Given the description of an element on the screen output the (x, y) to click on. 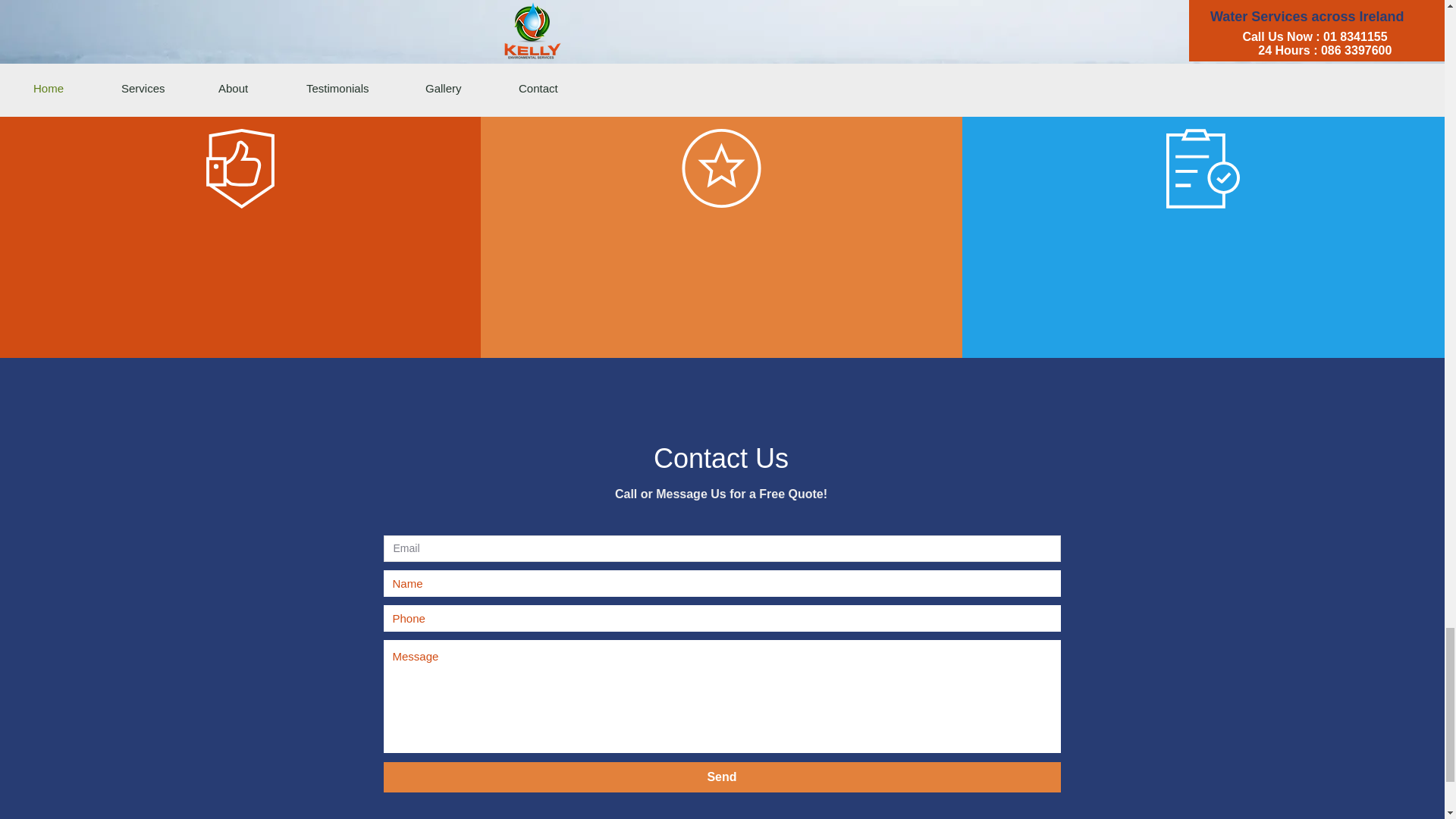
Send (722, 777)
